Given the description of an element on the screen output the (x, y) to click on. 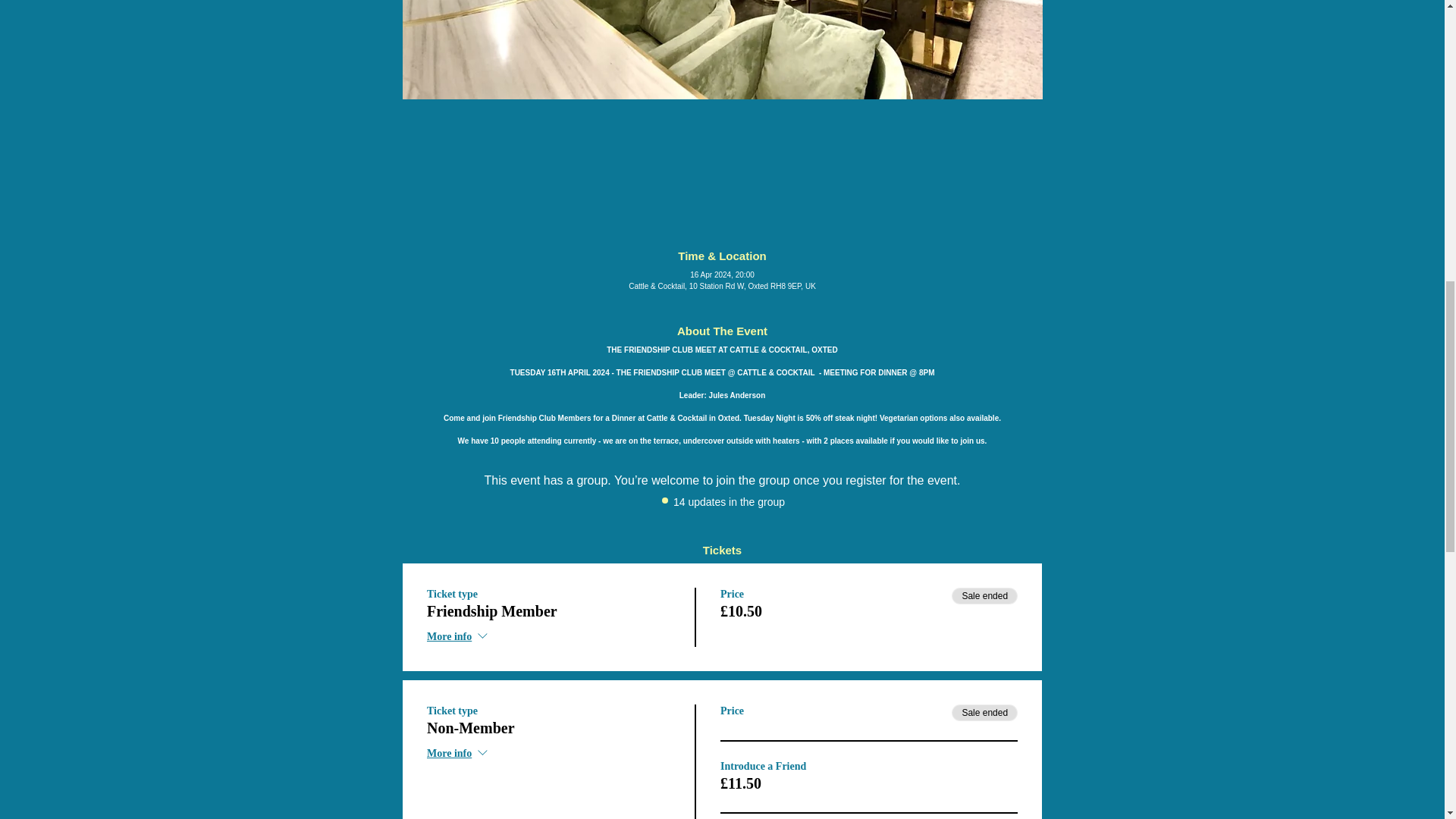
More info (458, 637)
More info (458, 753)
